Given the description of an element on the screen output the (x, y) to click on. 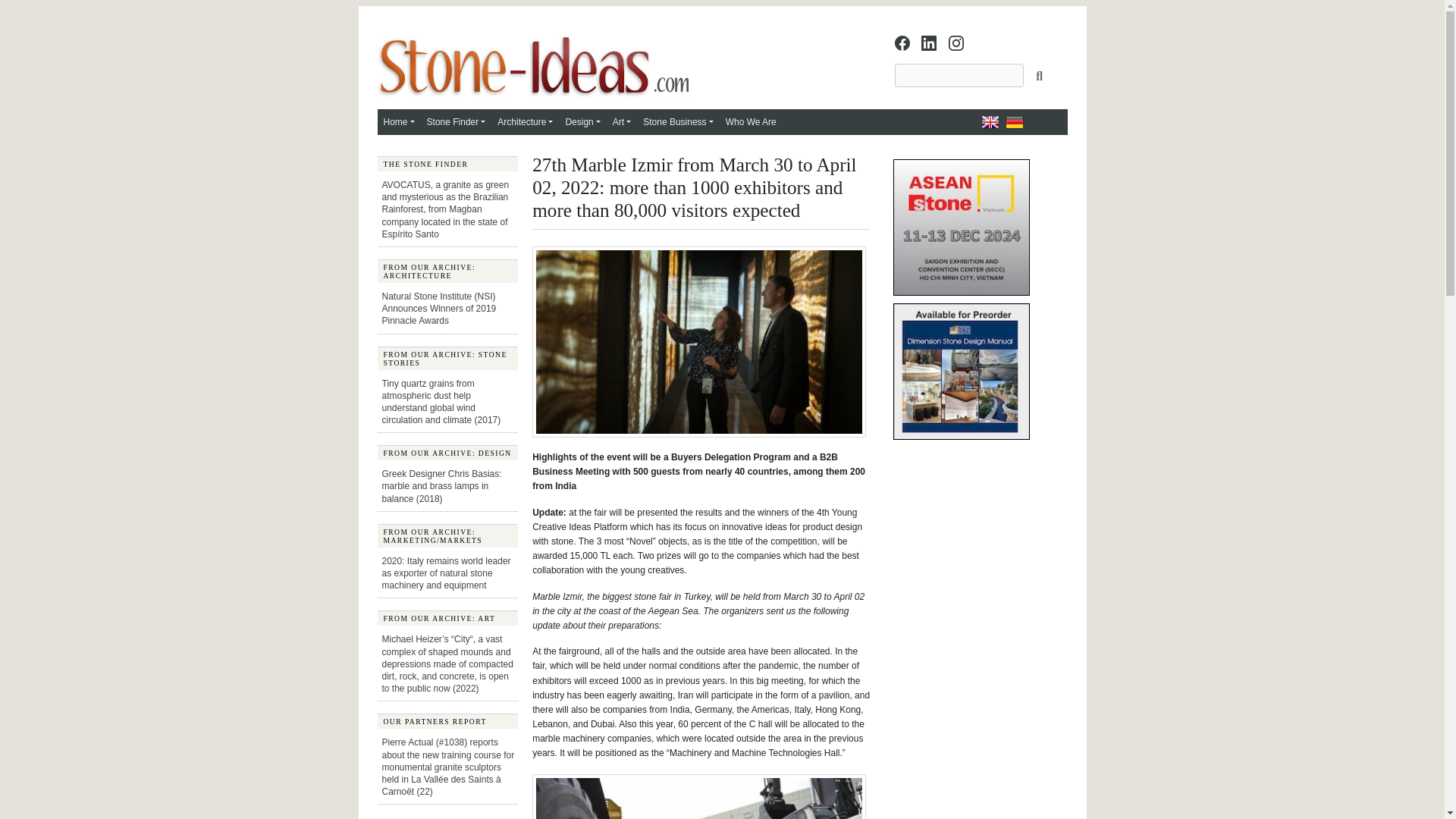
Architecture (525, 121)
Stone Business (678, 121)
FROM OUR ARCHIVE: DESIGN (447, 452)
Art (622, 121)
Stone Finder (456, 121)
Stone Finder (456, 121)
FROM OUR ARCHIVE: STONE STORIES (447, 357)
FROM OUR ARCHIVE: ARCHITECTURE (447, 270)
Home (398, 121)
Home (398, 121)
